Given the description of an element on the screen output the (x, y) to click on. 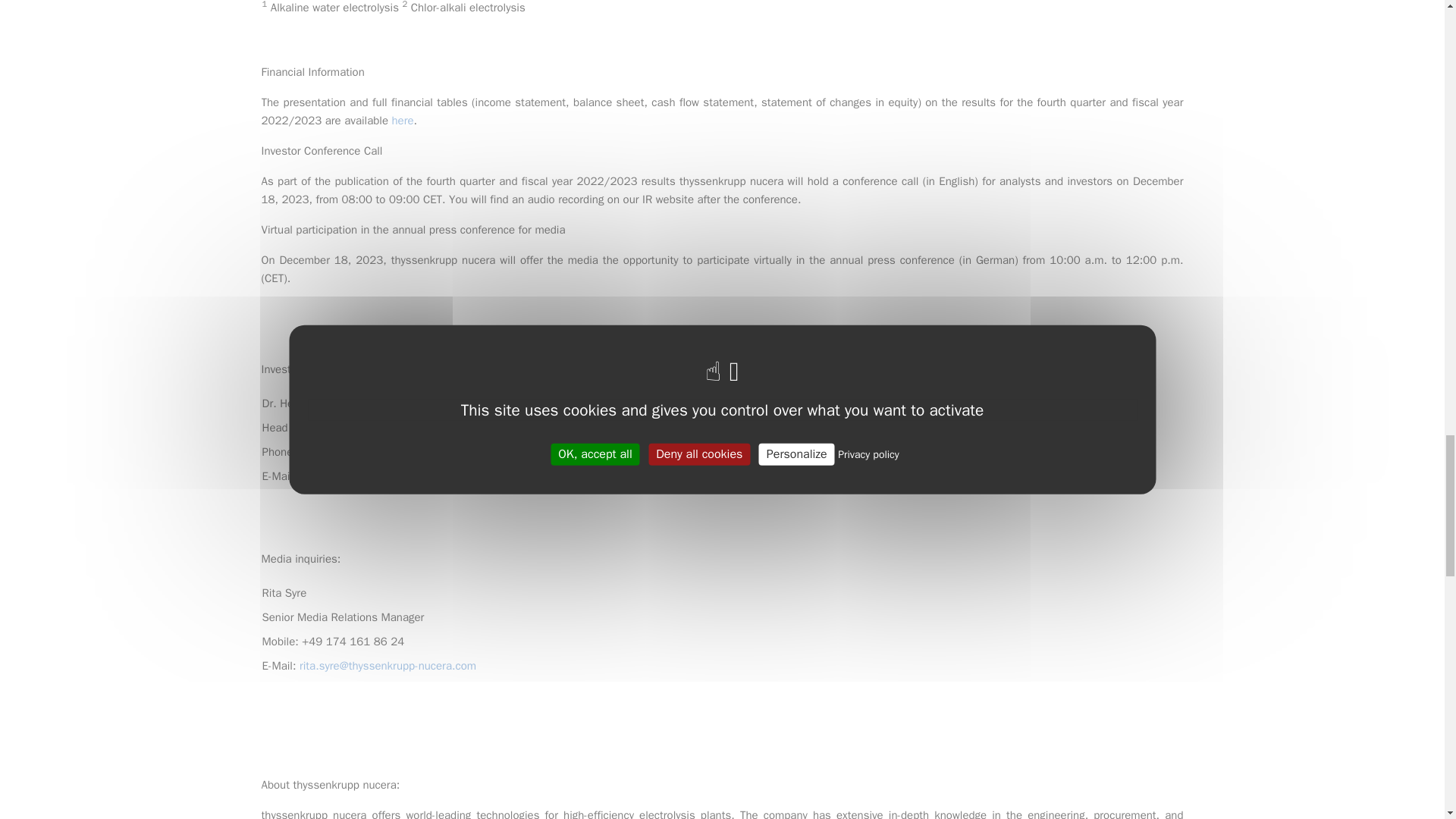
here (402, 120)
